Given the description of an element on the screen output the (x, y) to click on. 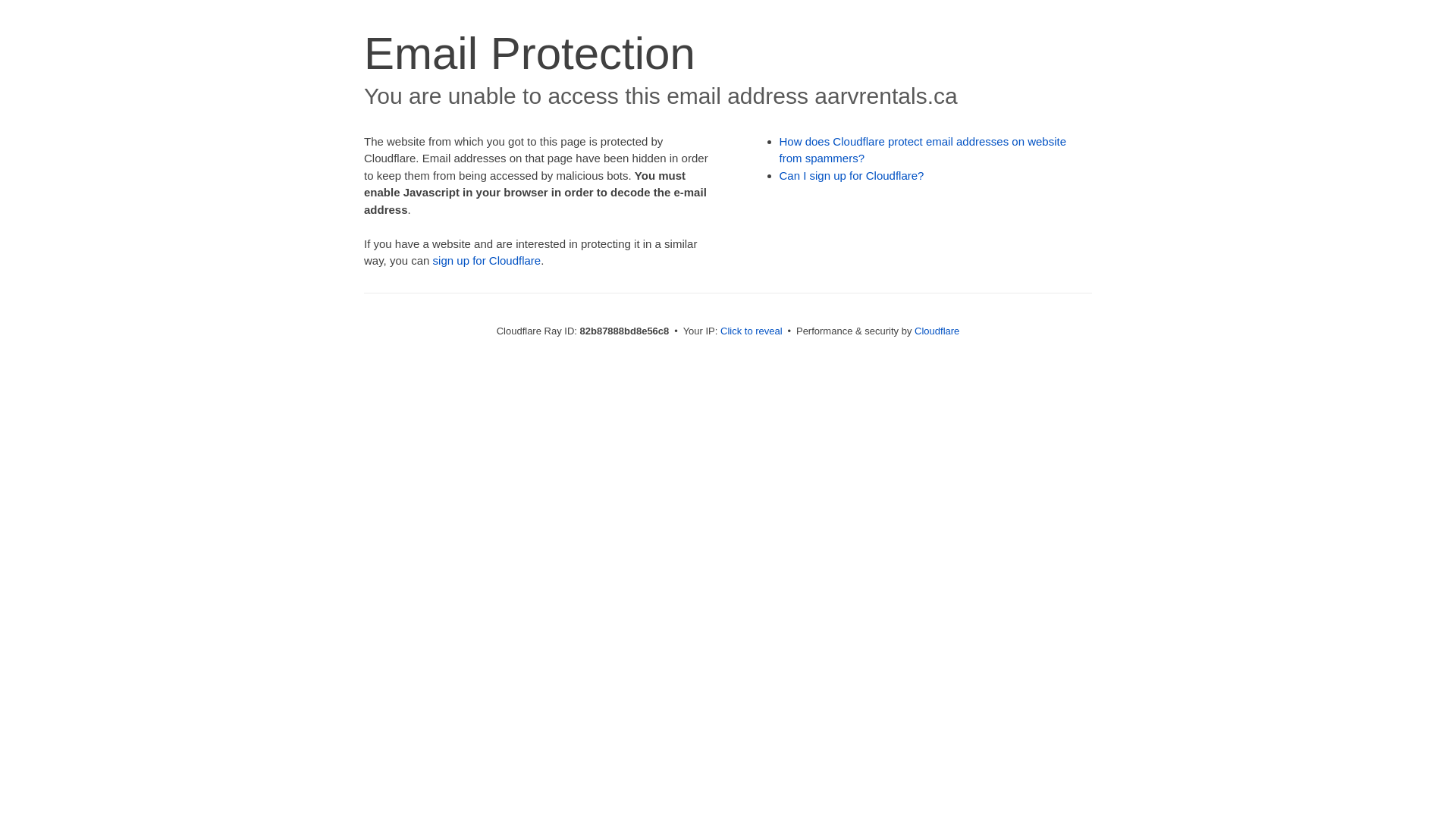
sign up for Cloudflare Element type: text (487, 260)
Cloudflare Element type: text (936, 330)
Can I sign up for Cloudflare? Element type: text (851, 175)
Click to reveal Element type: text (751, 330)
